Given the description of an element on the screen output the (x, y) to click on. 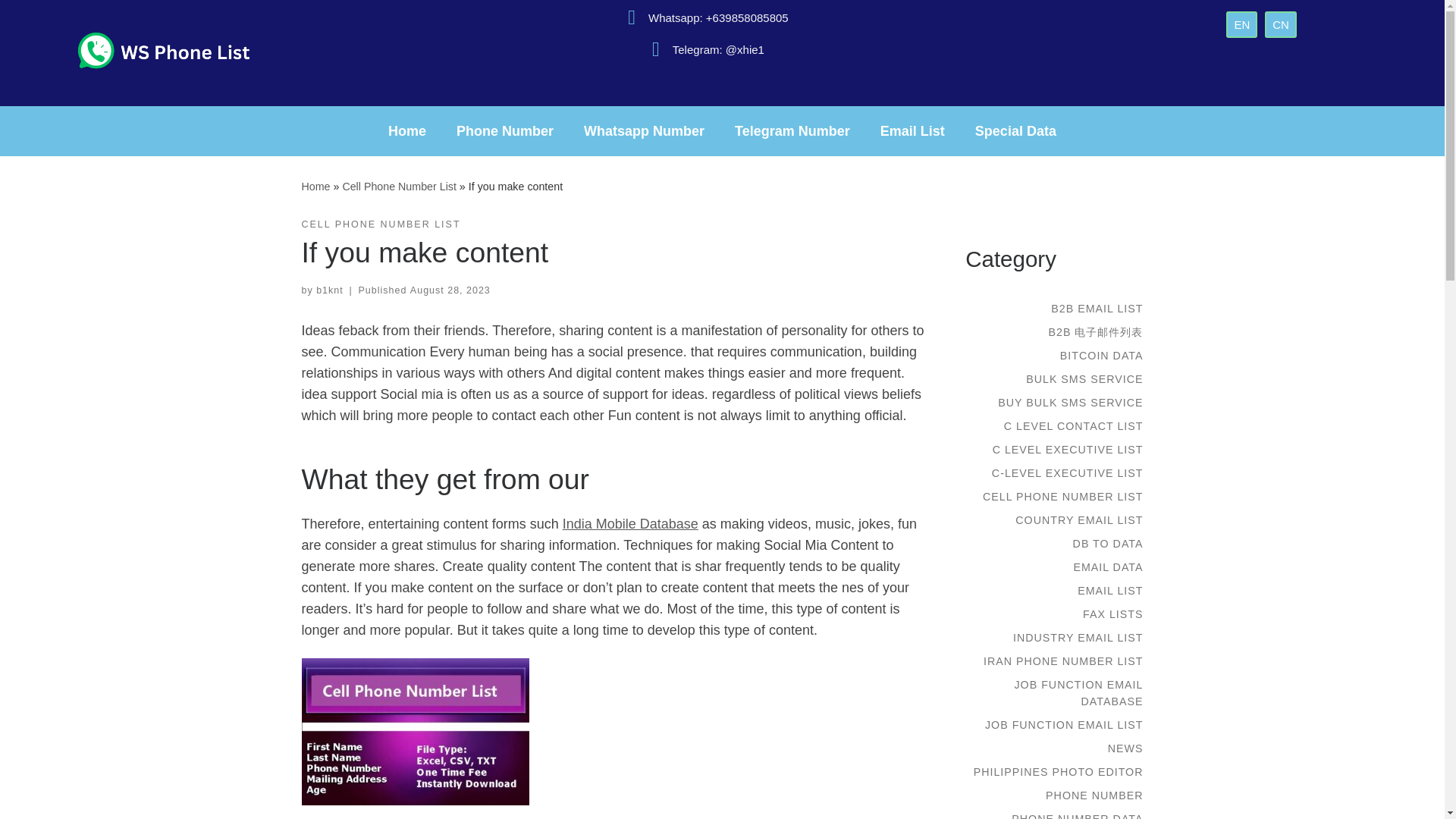
CN (1281, 24)
EN (1241, 24)
Cell Phone Number List (399, 186)
b1knt (329, 290)
Whatsapp Number (644, 130)
August 28, 2023 (450, 290)
View all posts by b1knt (329, 290)
Phone Number (505, 130)
Special Data (1015, 130)
Home (315, 186)
CELL PHONE NUMBER LIST (381, 224)
Cell Phone Number List (399, 186)
View all posts in Cell Phone Number List (381, 224)
Telegram Number (791, 130)
WS Phone List (315, 186)
